Given the description of an element on the screen output the (x, y) to click on. 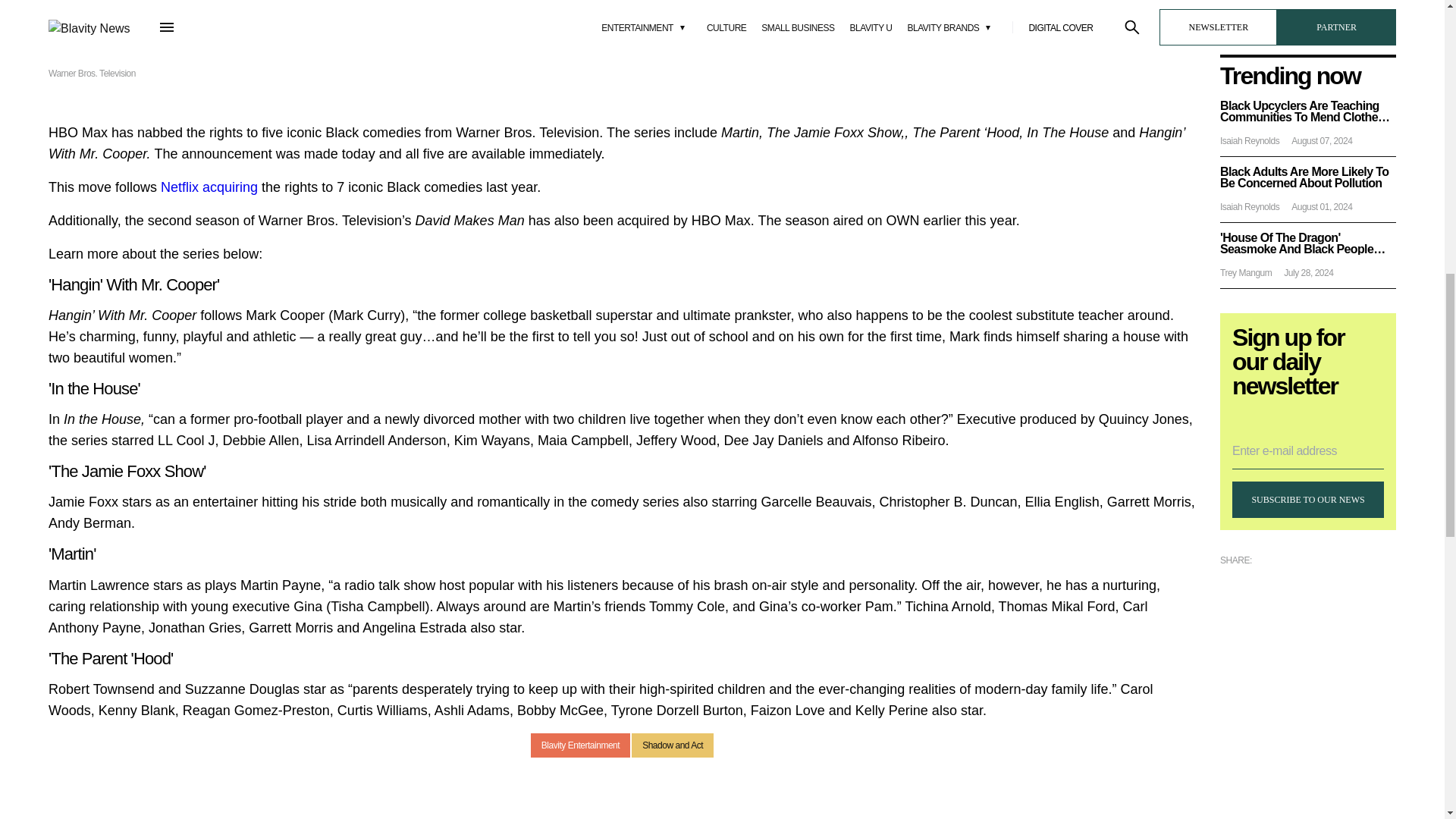
Shadow and Act (672, 745)
Blavity Entertainment (580, 745)
Netflix acquiring (211, 186)
